Given the description of an element on the screen output the (x, y) to click on. 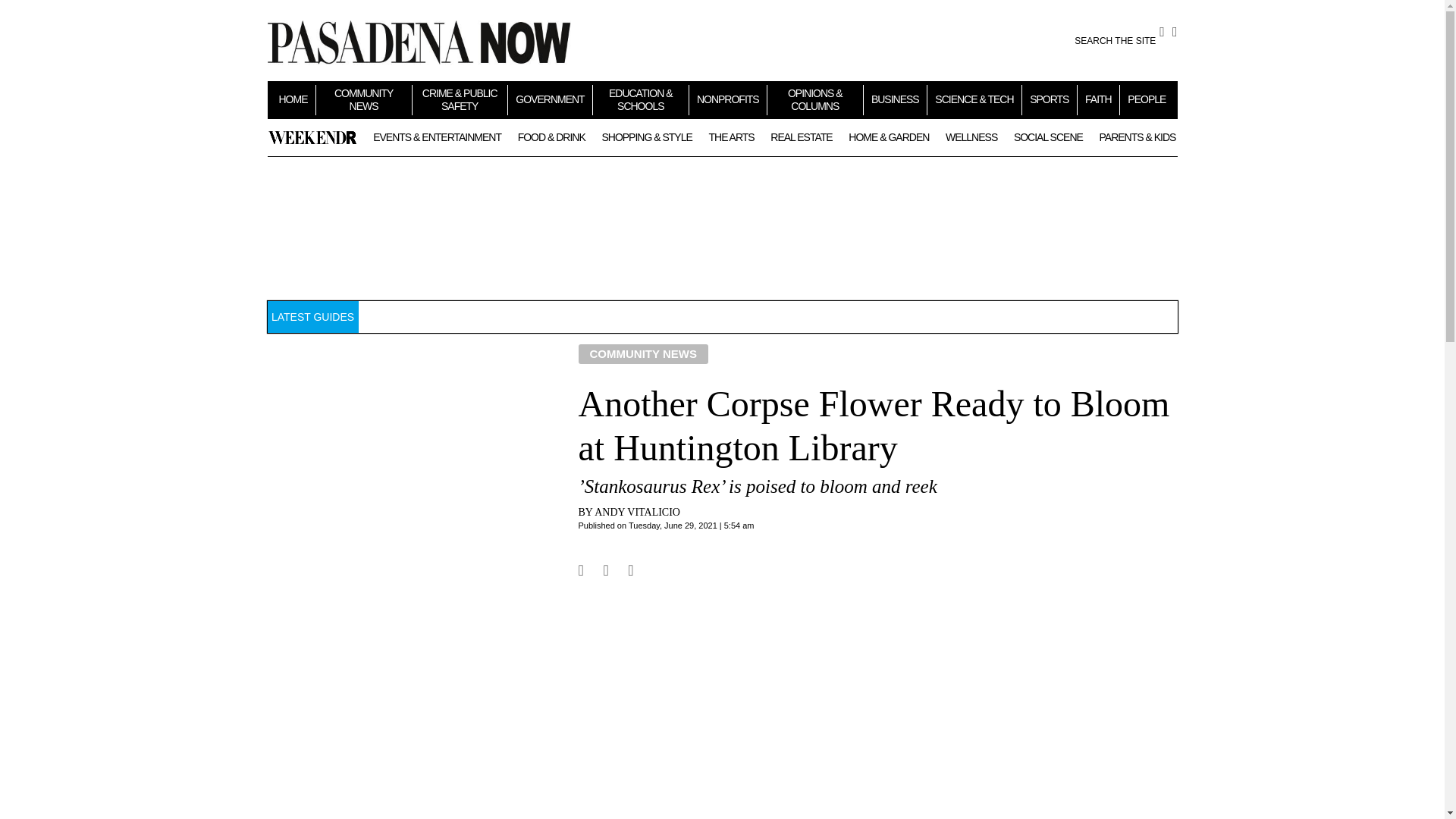
PEOPLE (1146, 99)
NONPROFITS (727, 99)
YouTube video player (873, 712)
Bookmark (673, 561)
BUSINESS (894, 99)
WELLNESS (970, 137)
WEEKENDR (312, 137)
COMMUNITY NEWS (363, 98)
SOCIAL SCENE (1048, 137)
